Given the description of an element on the screen output the (x, y) to click on. 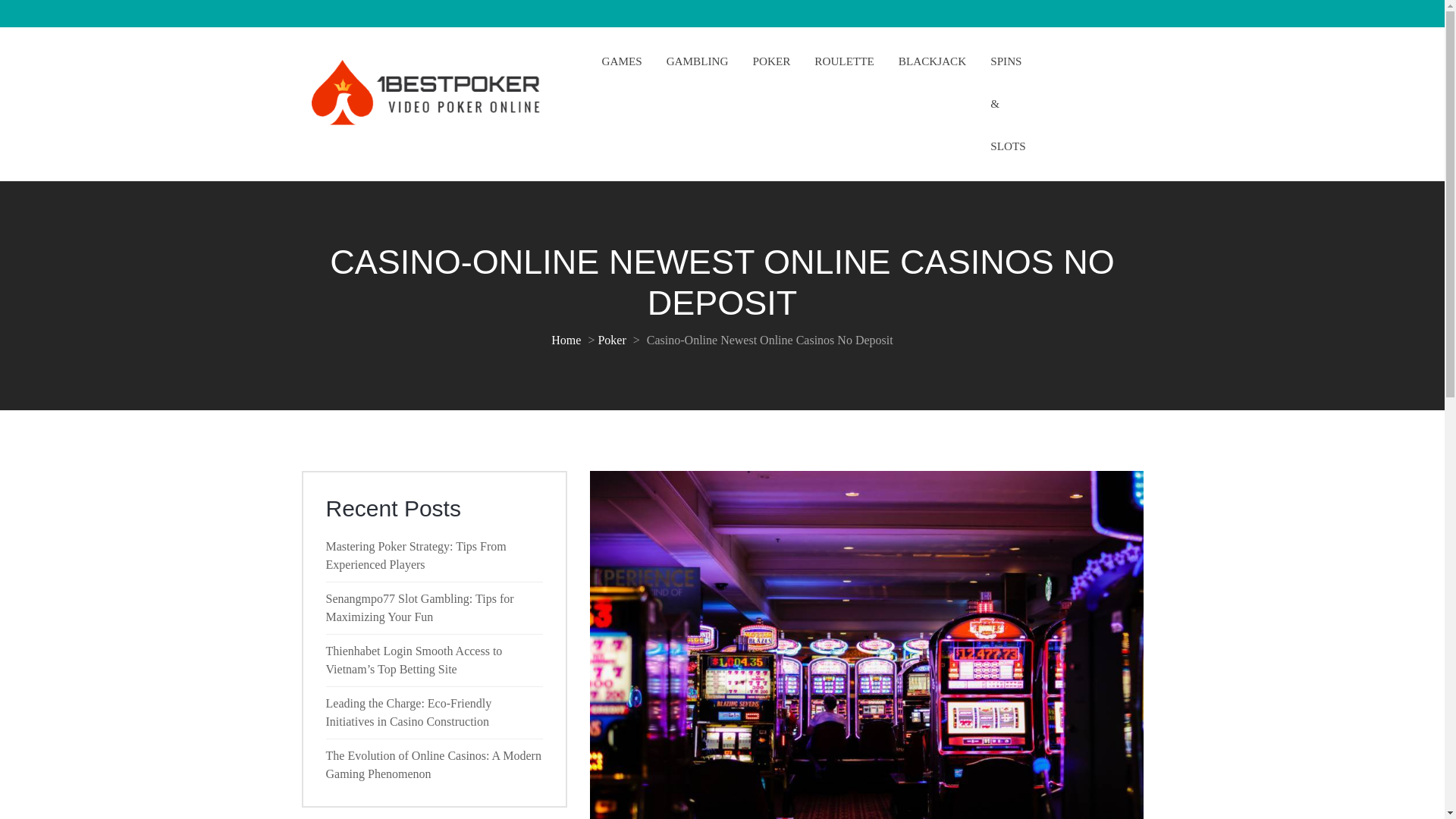
Senangmpo77 Slot Gambling: Tips for Maximizing Your Fun (419, 607)
Mastering Poker Strategy: Tips From Experienced Players (416, 554)
Home (568, 339)
GAMBLING (697, 60)
The Evolution of Online Casinos: A Modern Gaming Phenomenon (433, 764)
BLACKJACK (932, 60)
Poker (612, 339)
1BestPoker (336, 143)
ROULETTE (843, 60)
